Given the description of an element on the screen output the (x, y) to click on. 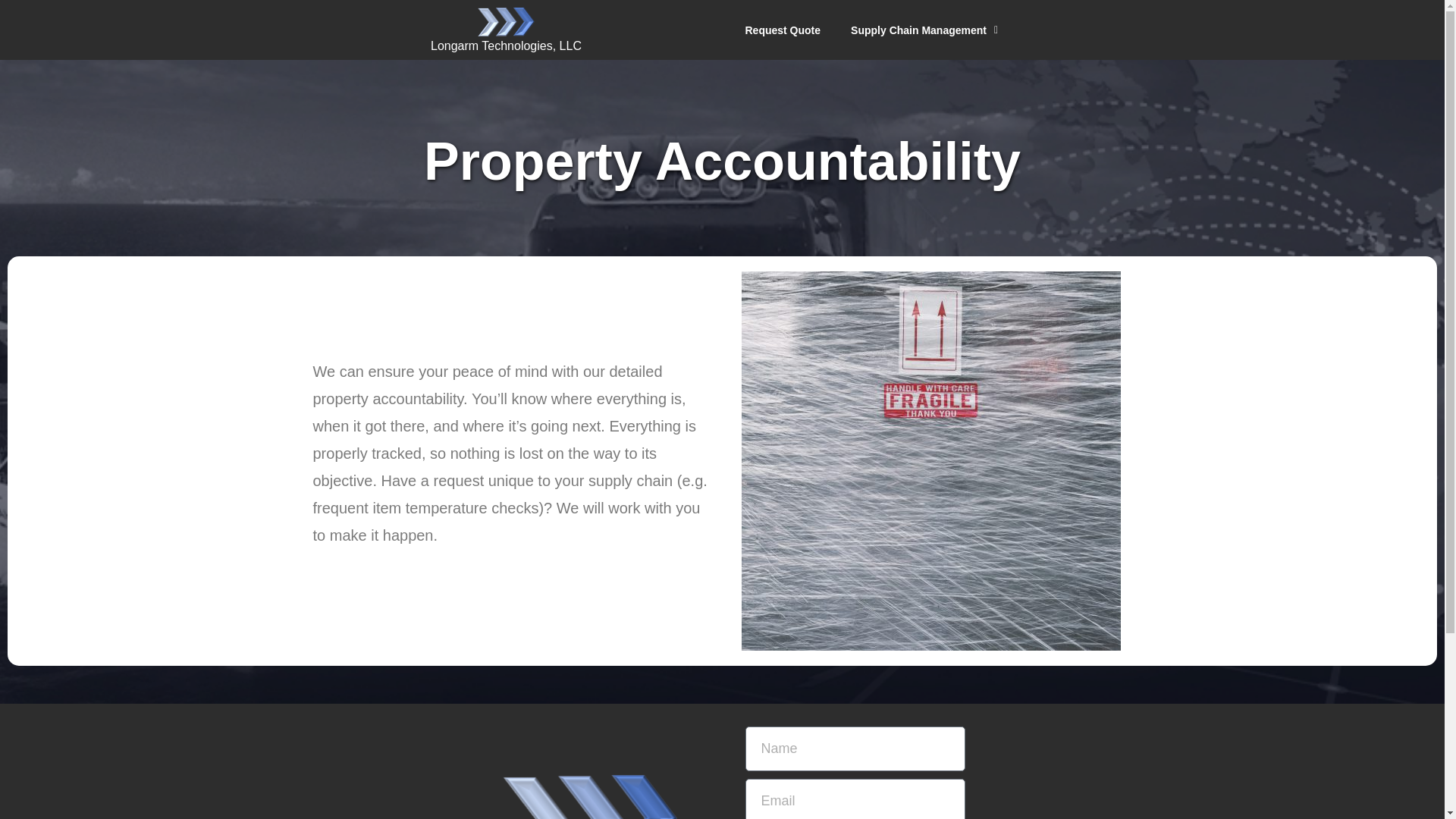
Request Quote (782, 29)
Supply Chain Management (924, 29)
